Given the description of an element on the screen output the (x, y) to click on. 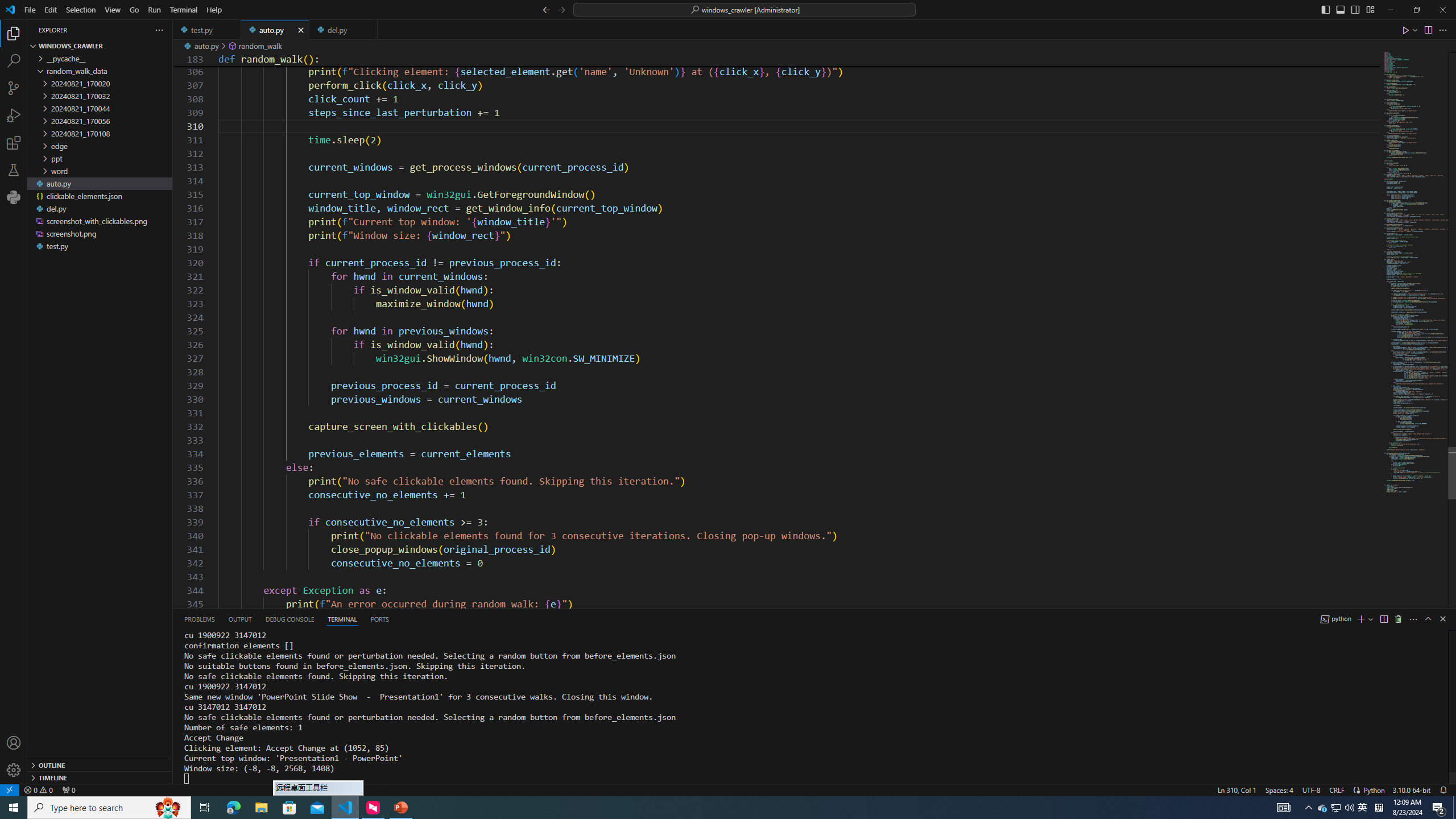
Run Python File (1405, 29)
Selection (80, 9)
Editor actions (1425, 29)
Restore (1416, 9)
More Actions... (1442, 29)
UTF-8 (1310, 789)
Debug Console (Ctrl+Shift+Y) (289, 618)
Ports (380, 618)
Python (1373, 789)
Terminal (183, 9)
Explorer (Ctrl+Shift+E) (13, 33)
Explorer Section: windows_crawler (99, 46)
